Given the description of an element on the screen output the (x, y) to click on. 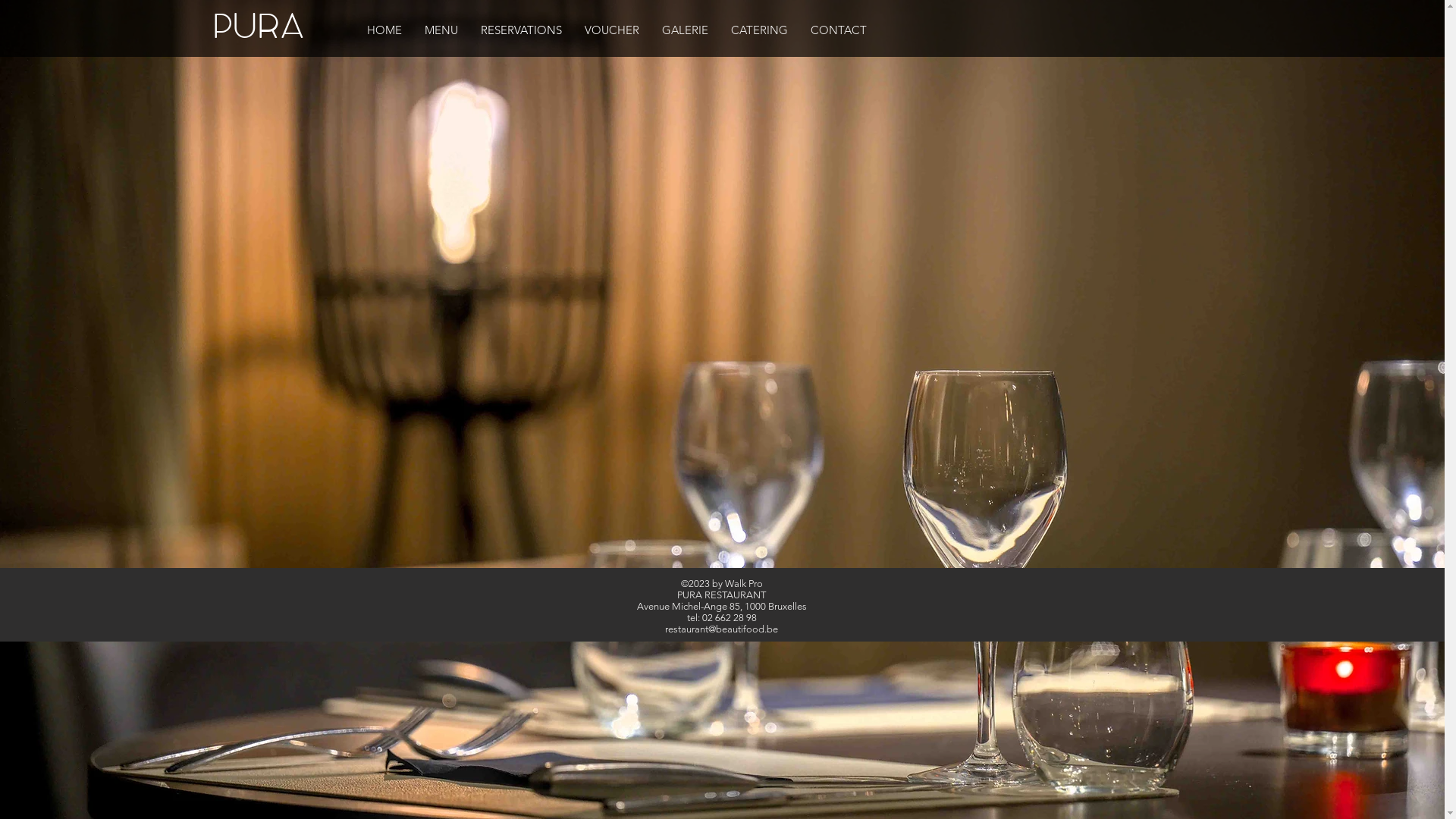
restaurant@beautifood.be Element type: text (721, 628)
HOME Element type: text (383, 30)
MENU Element type: text (440, 30)
CATERING Element type: text (758, 30)
Embedded Content Element type: hover (721, 322)
GALERIE Element type: text (684, 30)
Restaurant Social Bar Element type: hover (1206, 24)
CONTACT Element type: text (838, 30)
VOUCHER Element type: text (611, 30)
RESERVATIONS Element type: text (520, 30)
